Given the description of an element on the screen output the (x, y) to click on. 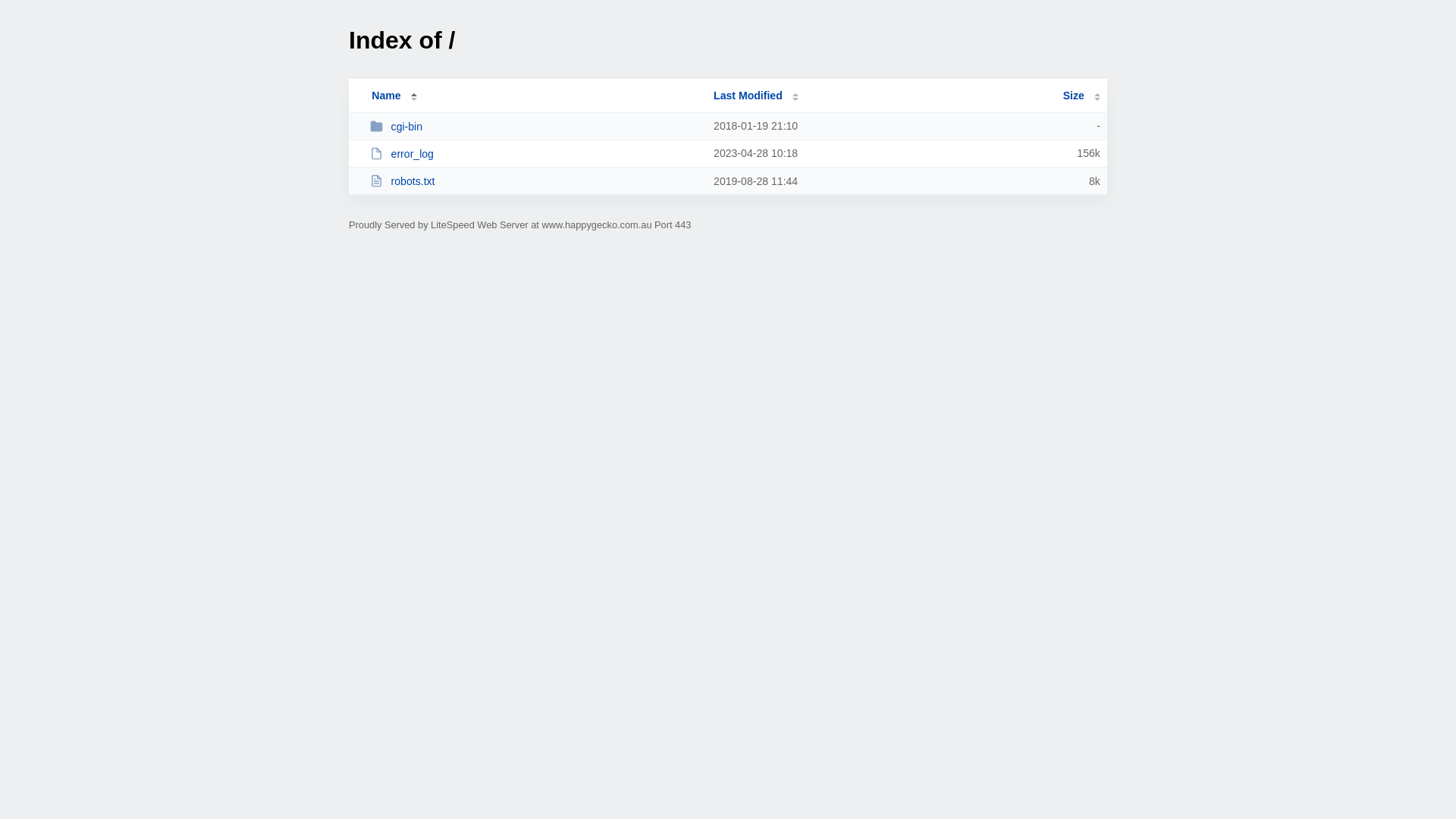
Last Modified Element type: text (755, 95)
cgi-bin Element type: text (534, 125)
robots.txt Element type: text (534, 180)
Size Element type: text (1081, 95)
Name Element type: text (385, 95)
error_log Element type: text (534, 153)
